Given the description of an element on the screen output the (x, y) to click on. 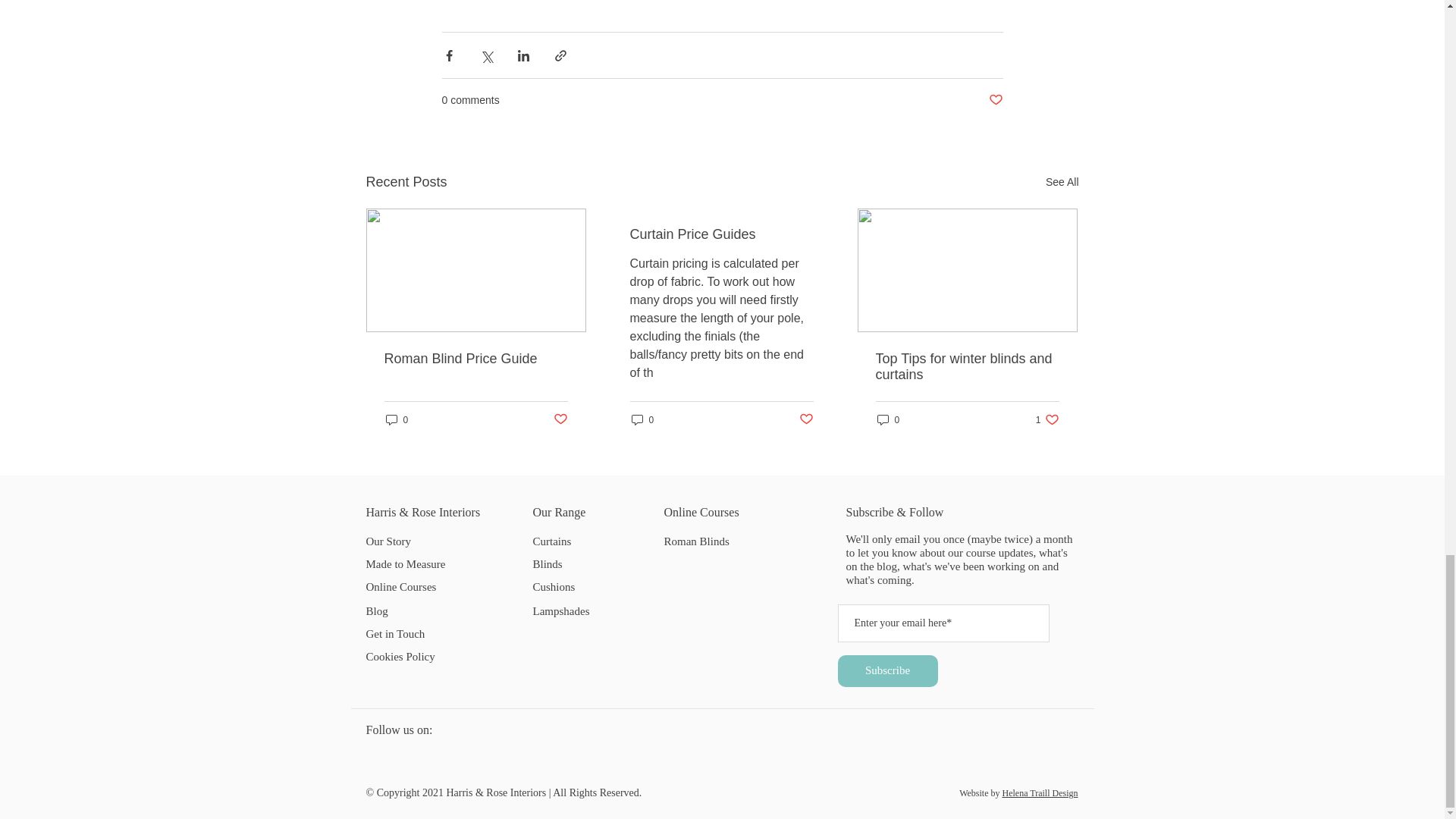
0 (396, 419)
Post not marked as liked (995, 100)
Post not marked as liked (806, 419)
Top Tips for winter blinds and curtains (966, 367)
Curtain Price Guides (720, 234)
Post not marked as liked (560, 419)
0 (641, 419)
0 (888, 419)
Roman Blind Price Guide (475, 358)
See All (1061, 182)
